Given the description of an element on the screen output the (x, y) to click on. 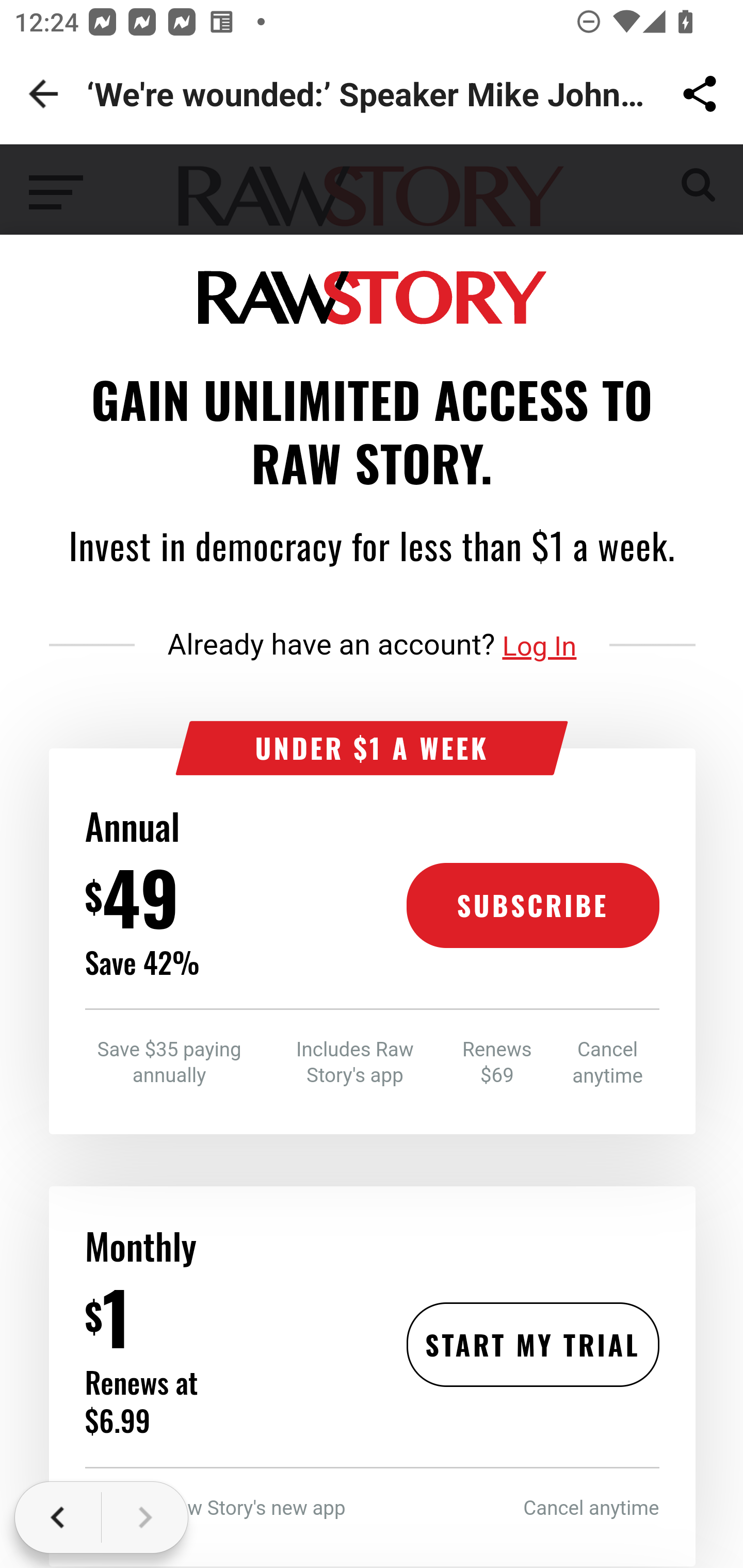
Log In (540, 645)
SUBSCRIBE (532, 906)
START MY TRIAL (532, 1344)
